Given the description of an element on the screen output the (x, y) to click on. 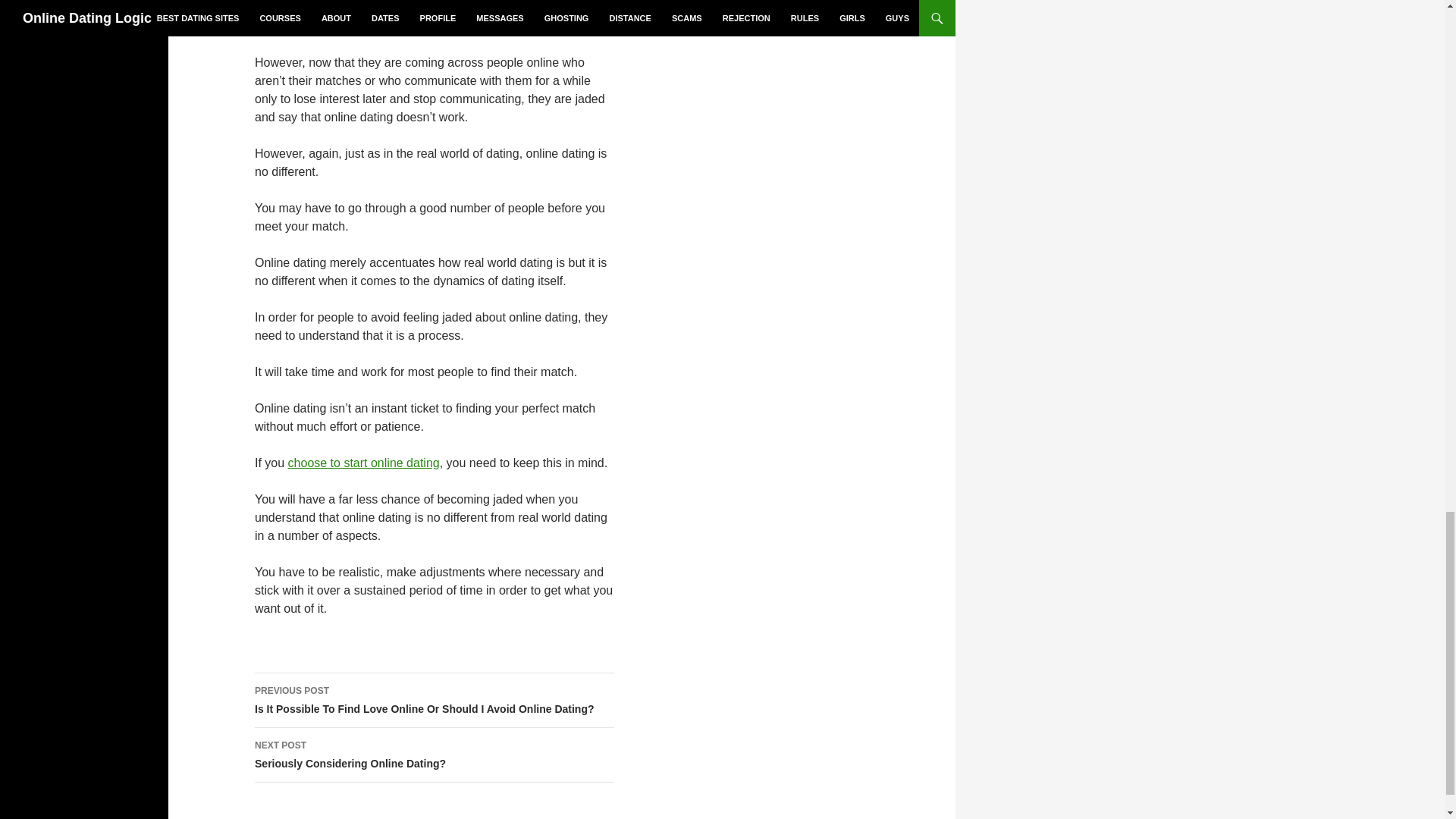
choose to start online dating (434, 755)
